Given the description of an element on the screen output the (x, y) to click on. 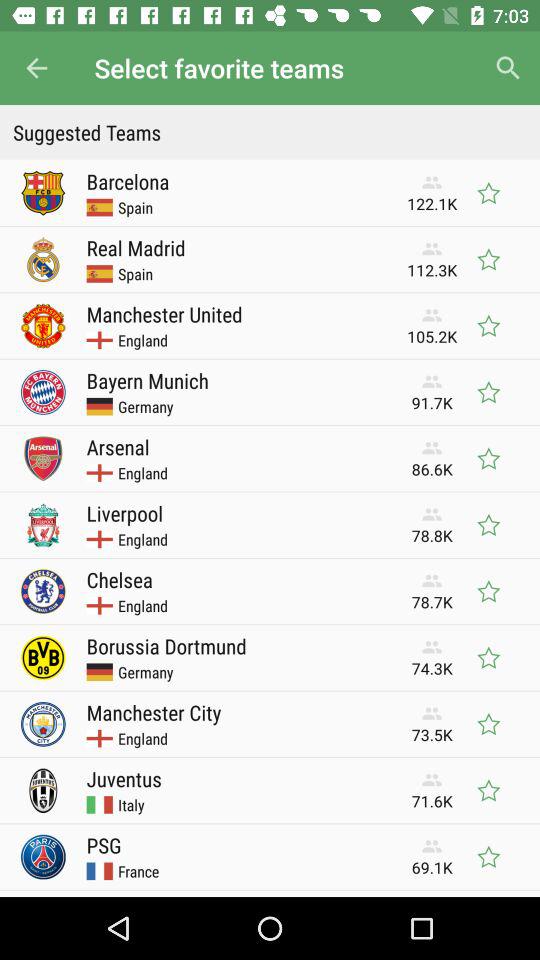
click icon to the left of 71.6k icon (131, 804)
